Given the description of an element on the screen output the (x, y) to click on. 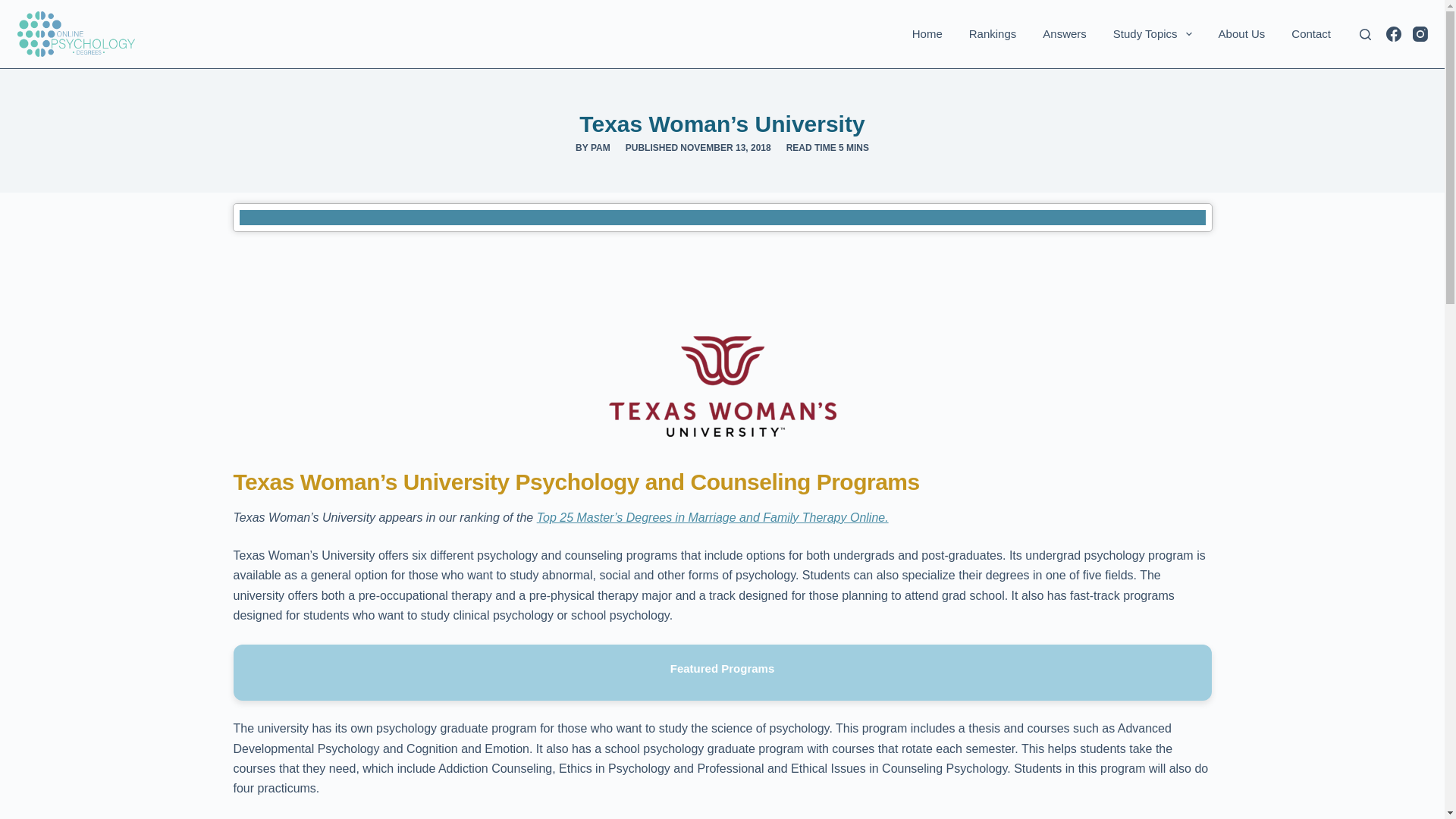
Posts by Pam (600, 147)
Skip to content (15, 7)
Study Topics (1152, 33)
Contact (1310, 33)
Rankings (992, 33)
Answers (1064, 33)
About Us (1241, 33)
